Given the description of an element on the screen output the (x, y) to click on. 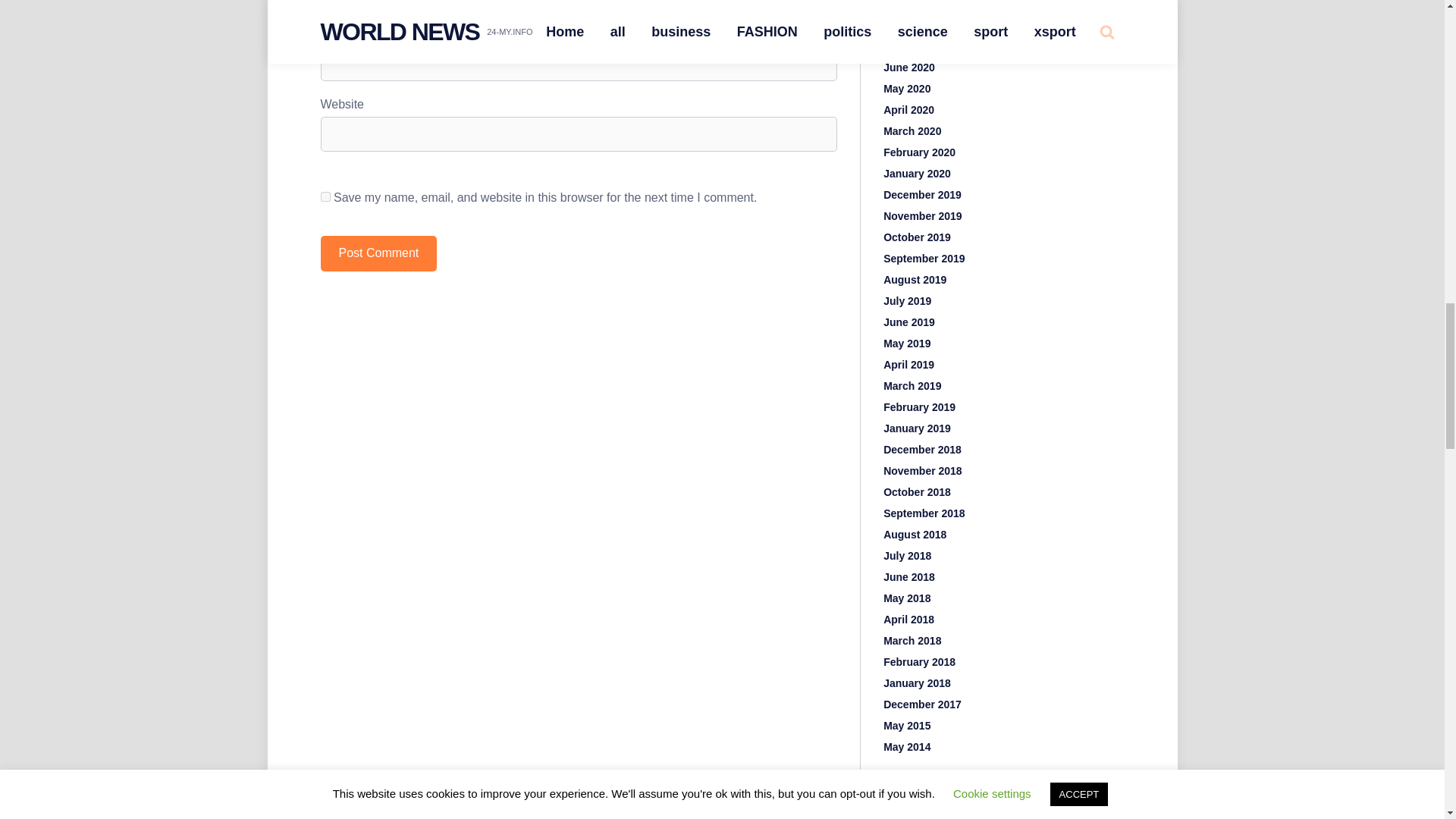
Post Comment (378, 253)
Post Comment (378, 253)
yes (325, 196)
